Given the description of an element on the screen output the (x, y) to click on. 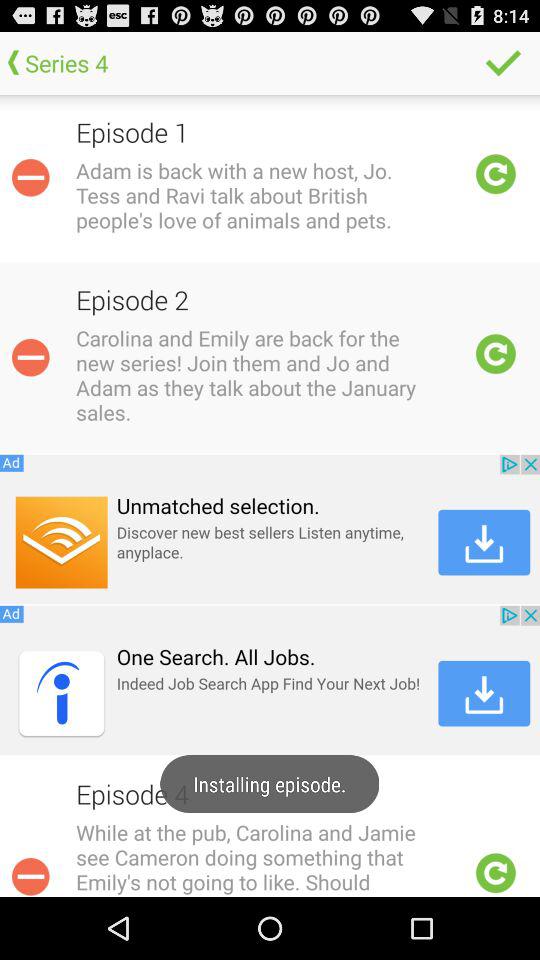
watch episode 3 (496, 873)
